Given the description of an element on the screen output the (x, y) to click on. 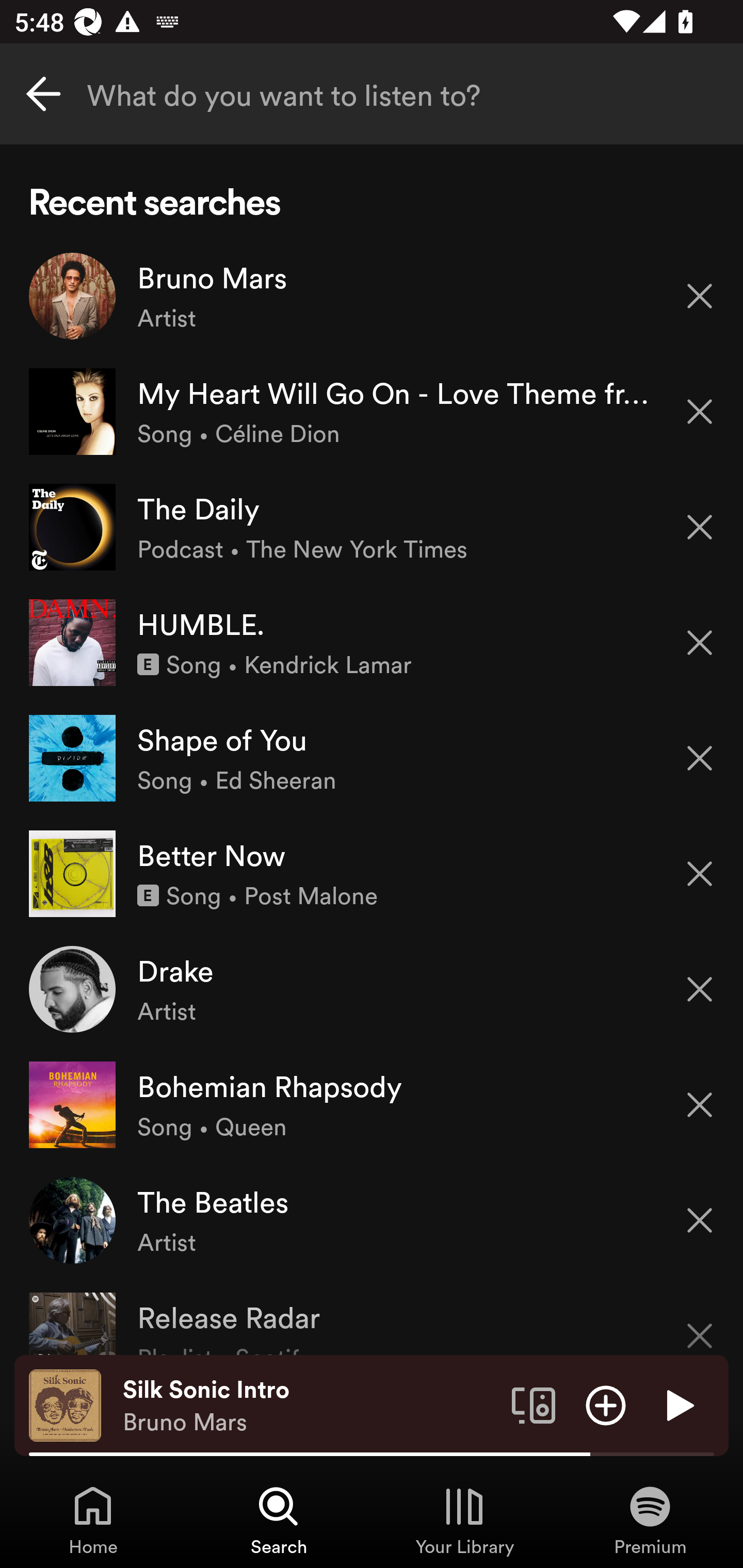
What do you want to listen to? (371, 93)
Cancel (43, 93)
Bruno Mars Artist Remove (371, 296)
Remove (699, 295)
Remove (699, 411)
The Daily Podcast • The New York Times Remove (371, 526)
Remove (699, 527)
HUMBLE. Explicit Song • Kendrick Lamar Remove (371, 642)
Remove (699, 642)
Shape of You Song • Ed Sheeran Remove (371, 757)
Remove (699, 758)
Better Now Explicit Song • Post Malone Remove (371, 873)
Remove (699, 874)
Drake Artist Remove (371, 989)
Remove (699, 989)
Bohemian Rhapsody Song • Queen Remove (371, 1104)
Remove (699, 1104)
The Beatles Artist Remove (371, 1219)
Remove (699, 1220)
Release Radar Playlist • Spotify Remove (371, 1315)
Remove (699, 1323)
Silk Sonic Intro Bruno Mars (309, 1405)
The cover art of the currently playing track (64, 1404)
Connect to a device. Opens the devices menu (533, 1404)
Add item (605, 1404)
Play (677, 1404)
Home, Tab 1 of 4 Home Home (92, 1519)
Search, Tab 2 of 4 Search Search (278, 1519)
Your Library, Tab 3 of 4 Your Library Your Library (464, 1519)
Premium, Tab 4 of 4 Premium Premium (650, 1519)
